Given the description of an element on the screen output the (x, y) to click on. 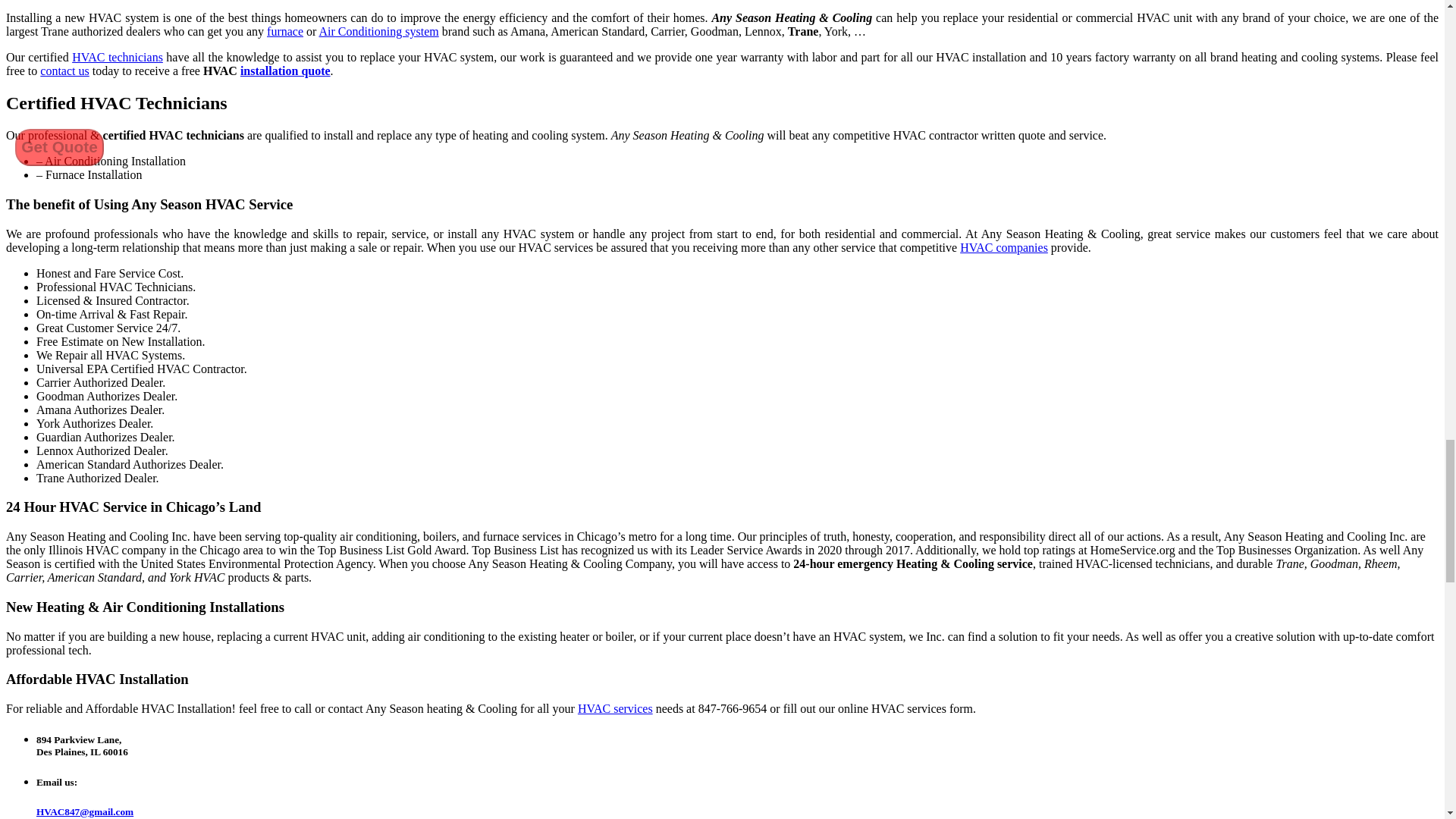
HVAC technicians (117, 56)
installation quote (285, 70)
HVAC services (615, 707)
HVAC companies (1003, 246)
Air Conditioning system (378, 31)
contact us (64, 70)
furnace (284, 31)
